Given the description of an element on the screen output the (x, y) to click on. 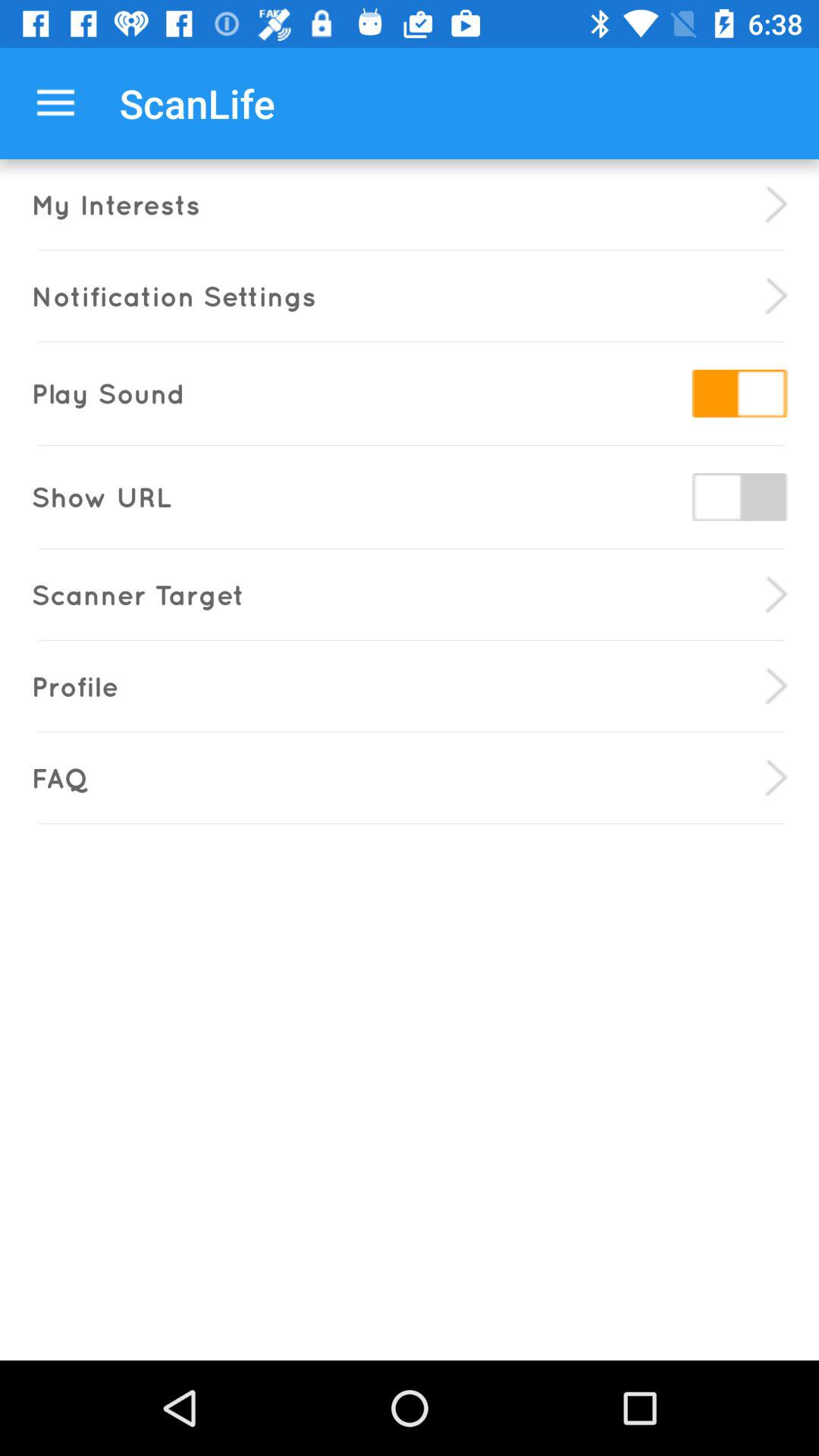
select item to the right of the play sound icon (739, 393)
